Given the description of an element on the screen output the (x, y) to click on. 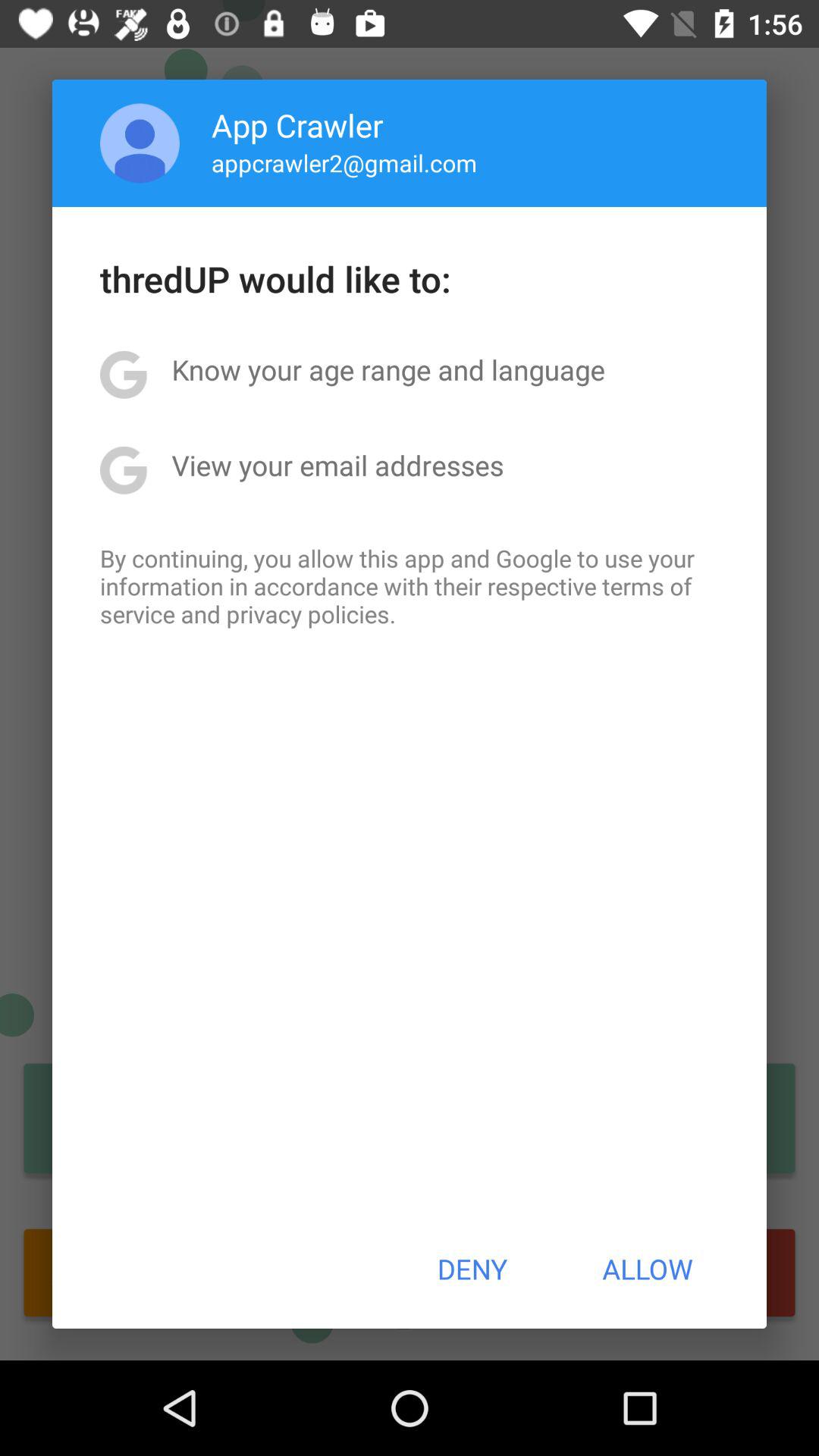
open the item at the bottom (471, 1268)
